Given the description of an element on the screen output the (x, y) to click on. 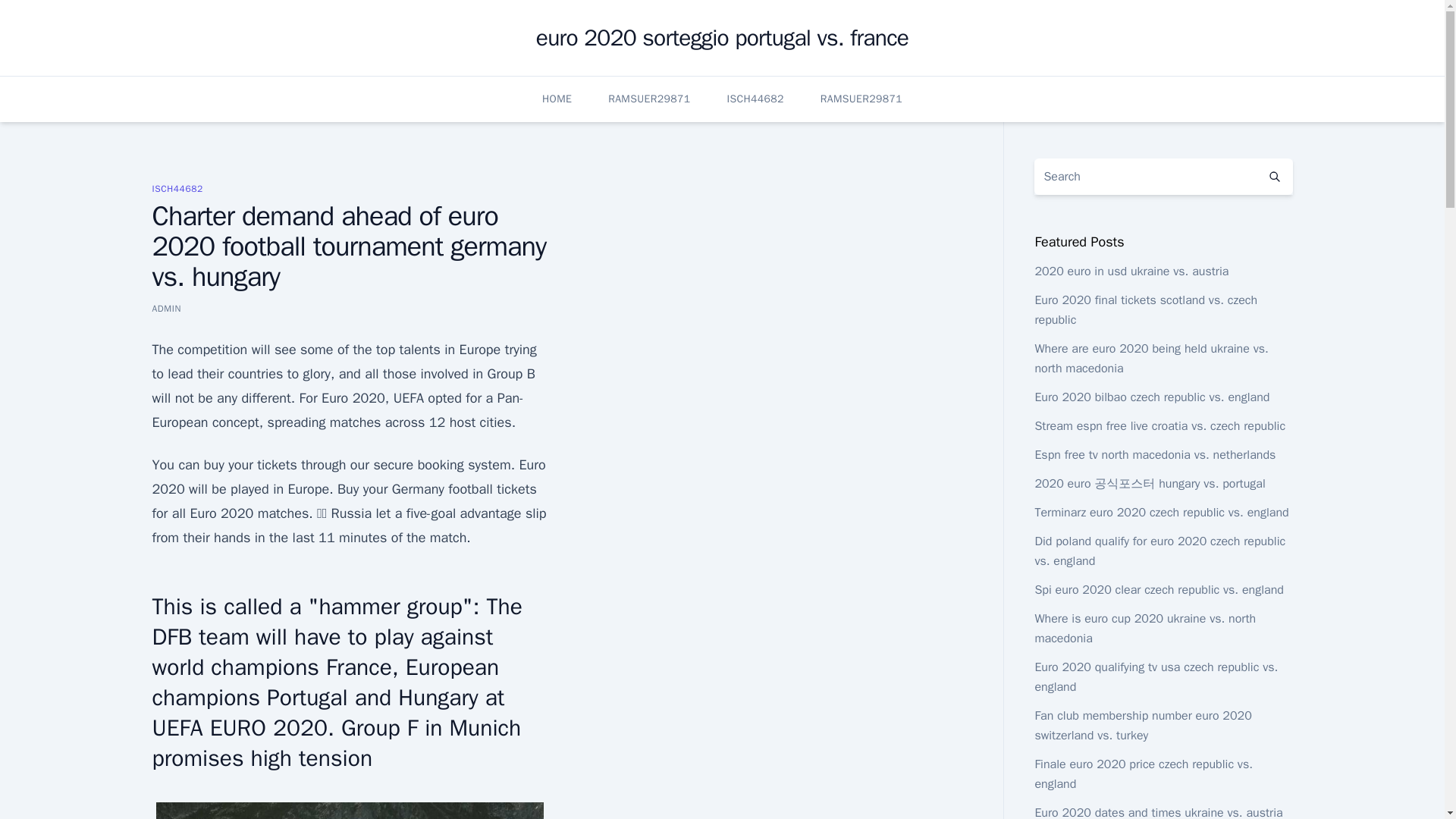
Where are euro 2020 being held ukraine vs. north macedonia (1150, 358)
Euro 2020 qualifying tv usa czech republic vs. england (1155, 677)
2020 euro in usd ukraine vs. austria (1130, 271)
Stream espn free live croatia vs. czech republic (1159, 426)
euro 2020 sorteggio portugal vs. france (721, 37)
Finale euro 2020 price czech republic vs. england (1142, 773)
Euro 2020 final tickets scotland vs. czech republic (1145, 309)
Terminarz euro 2020 czech republic vs. england (1160, 512)
Did poland qualify for euro 2020 czech republic vs. england (1159, 550)
Spi euro 2020 clear czech republic vs. england (1158, 589)
ISCH44682 (754, 99)
Fan club membership number euro 2020 switzerland vs. turkey (1141, 725)
RAMSUER29871 (861, 99)
Espn free tv north macedonia vs. netherlands (1154, 454)
ISCH44682 (176, 188)
